Given the description of an element on the screen output the (x, y) to click on. 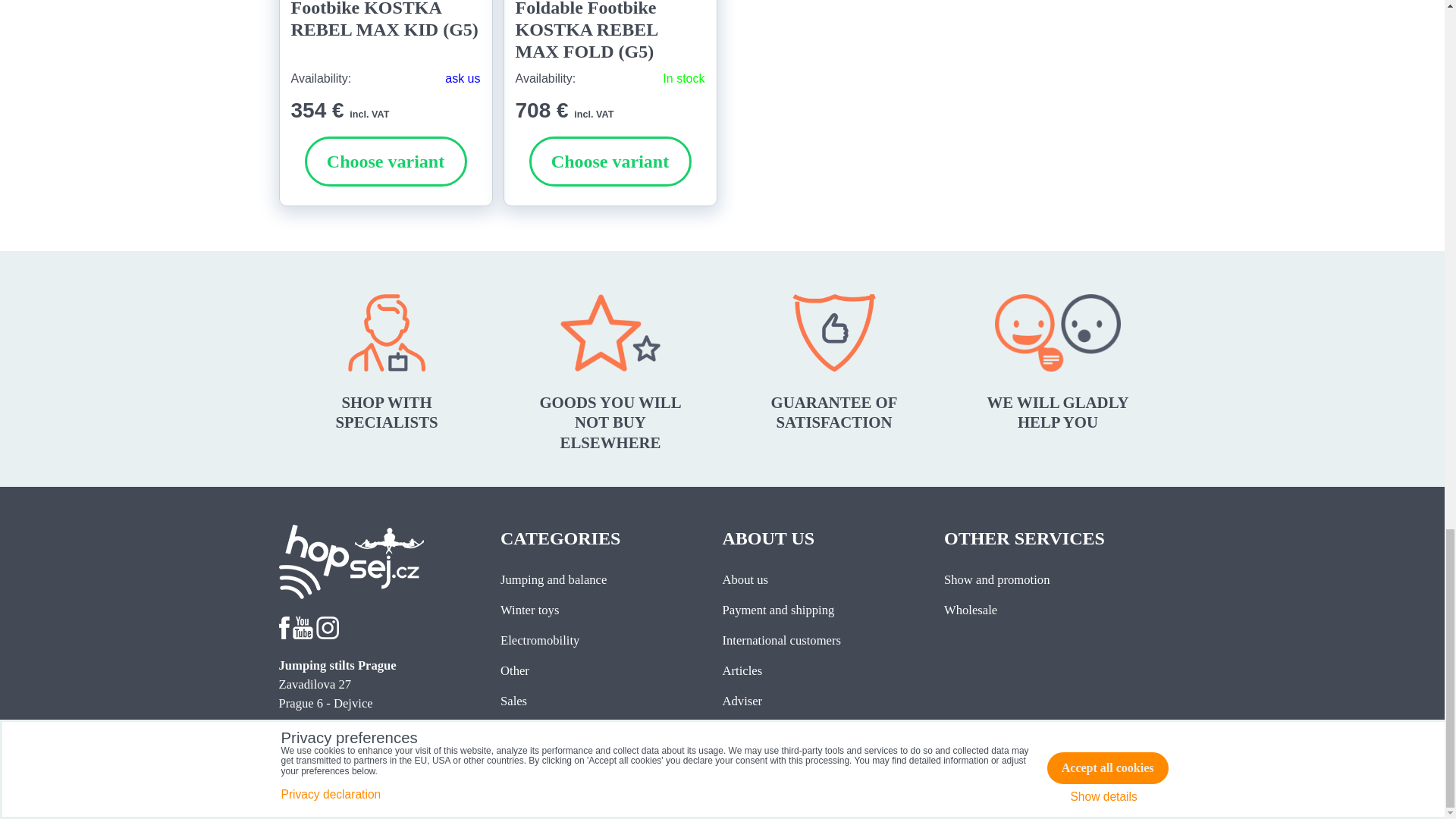
Hopsej - instagram (327, 635)
